Given the description of an element on the screen output the (x, y) to click on. 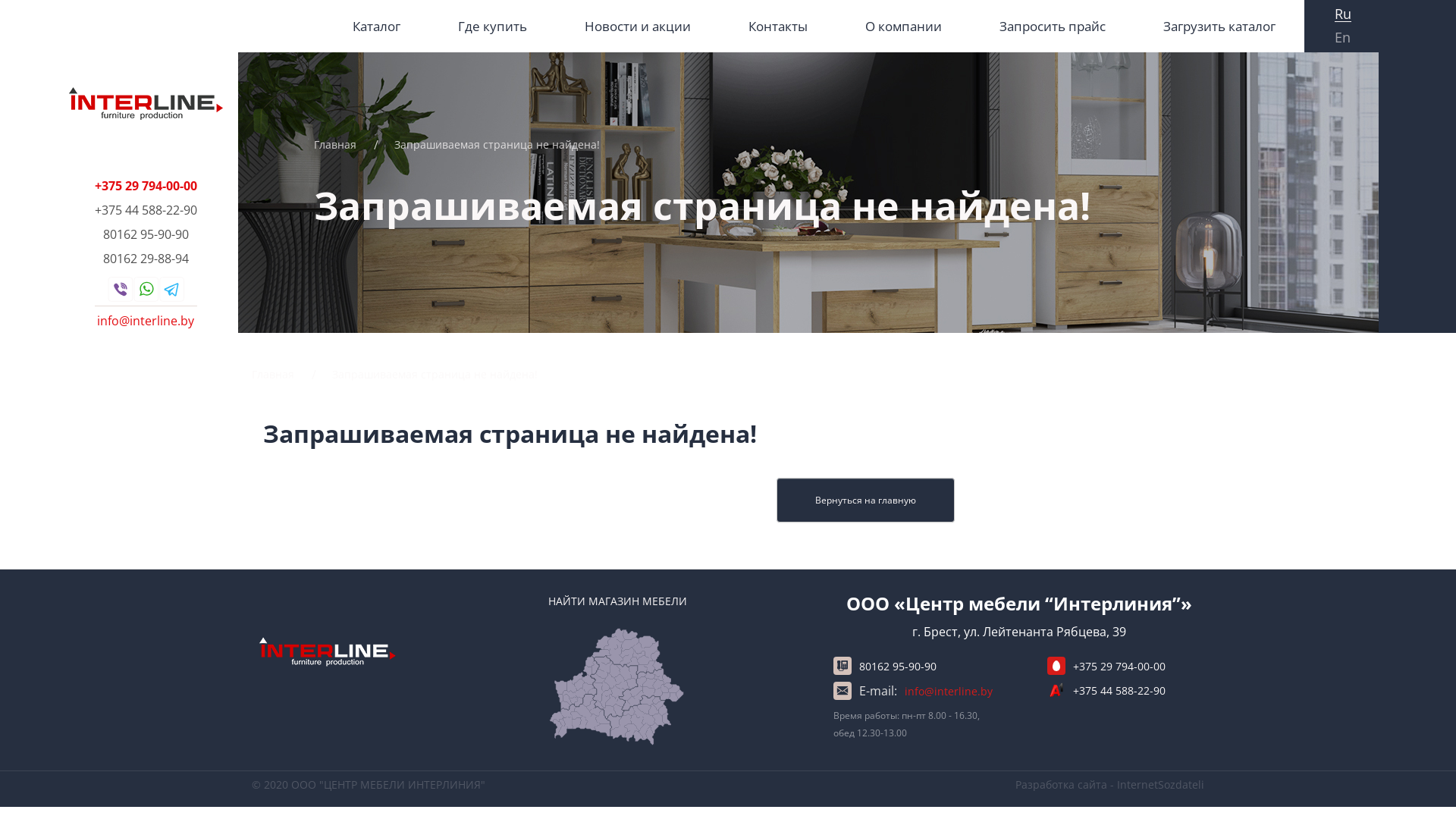
80162 95-90-90 Element type: text (897, 665)
Ru Element type: text (1342, 13)
En Element type: text (1342, 36)
+375 44 588-22-90 Element type: text (1119, 690)
+375 29 794-00-00 Element type: text (1119, 665)
info@interline.by Element type: text (948, 691)
